Given the description of an element on the screen output the (x, y) to click on. 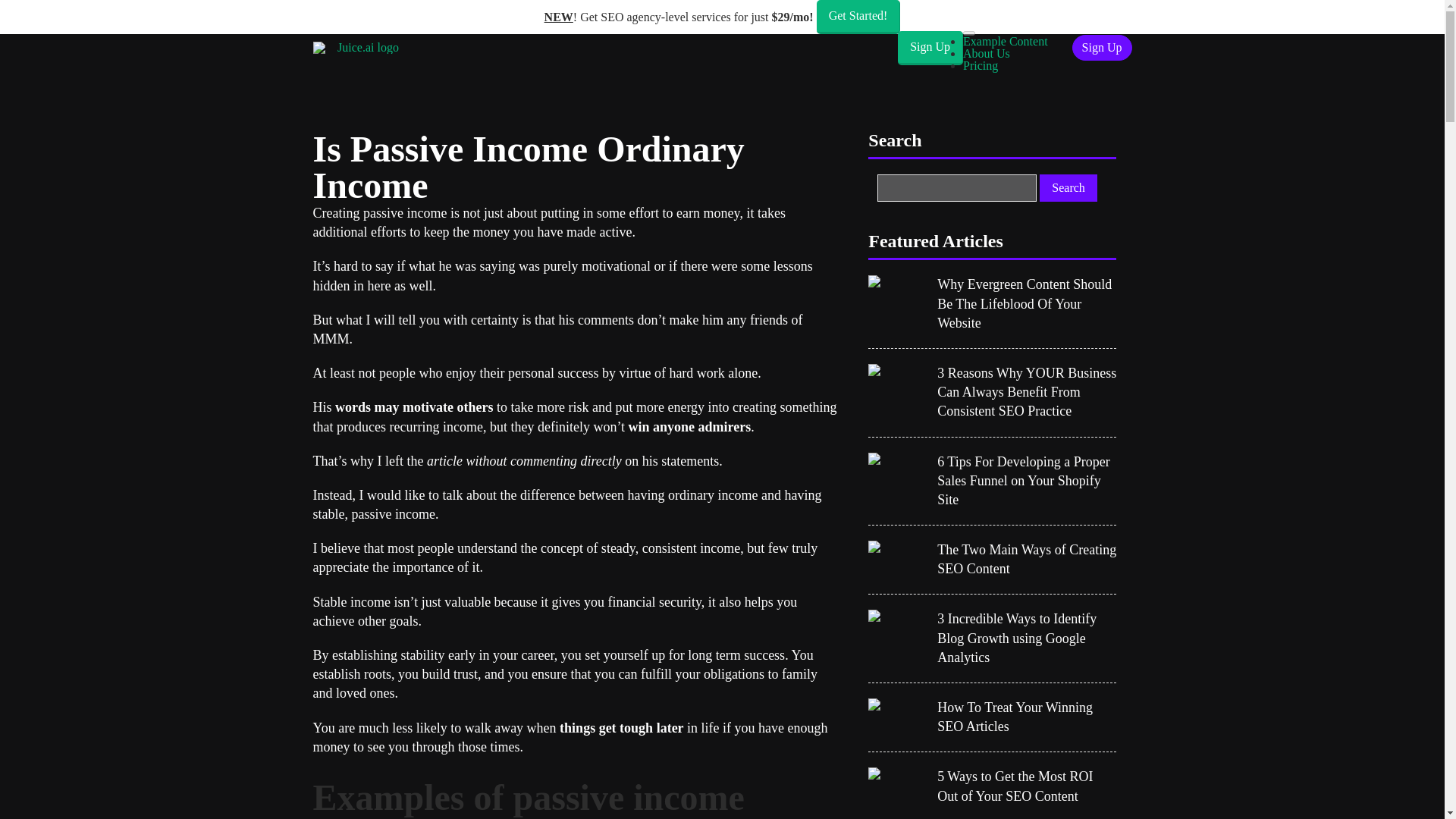
Sign Up (1101, 47)
Example Content (1005, 41)
How To Treat Your Winning SEO Articles (1026, 717)
Get Started! (858, 17)
Search (1068, 187)
5 Ways to Get the Most ROI Out of Your SEO Content (1026, 786)
Search (1068, 187)
